Given the description of an element on the screen output the (x, y) to click on. 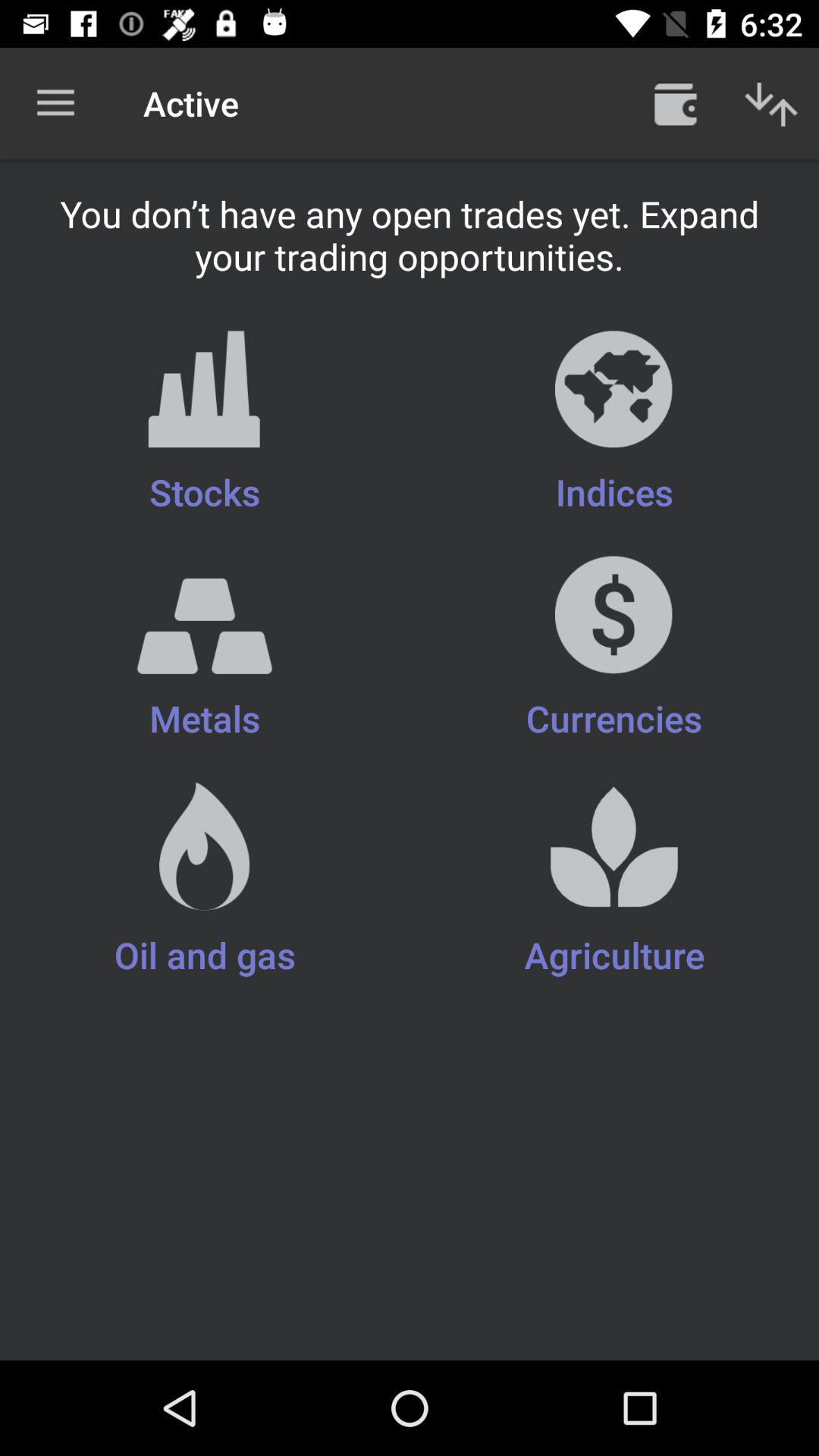
click the icon above the currencies item (204, 423)
